Given the description of an element on the screen output the (x, y) to click on. 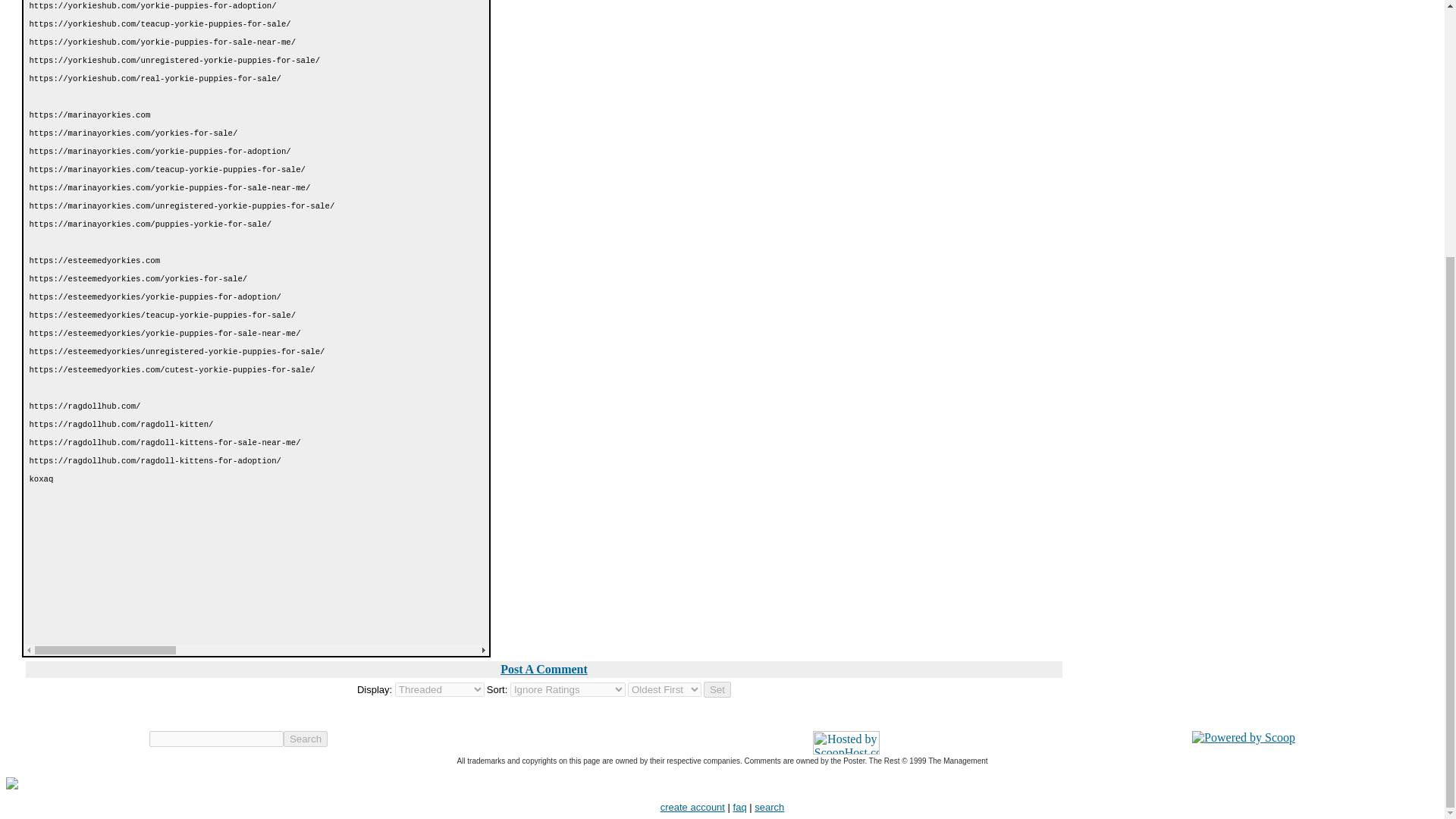
Search (305, 738)
Set (716, 689)
